Given the description of an element on the screen output the (x, y) to click on. 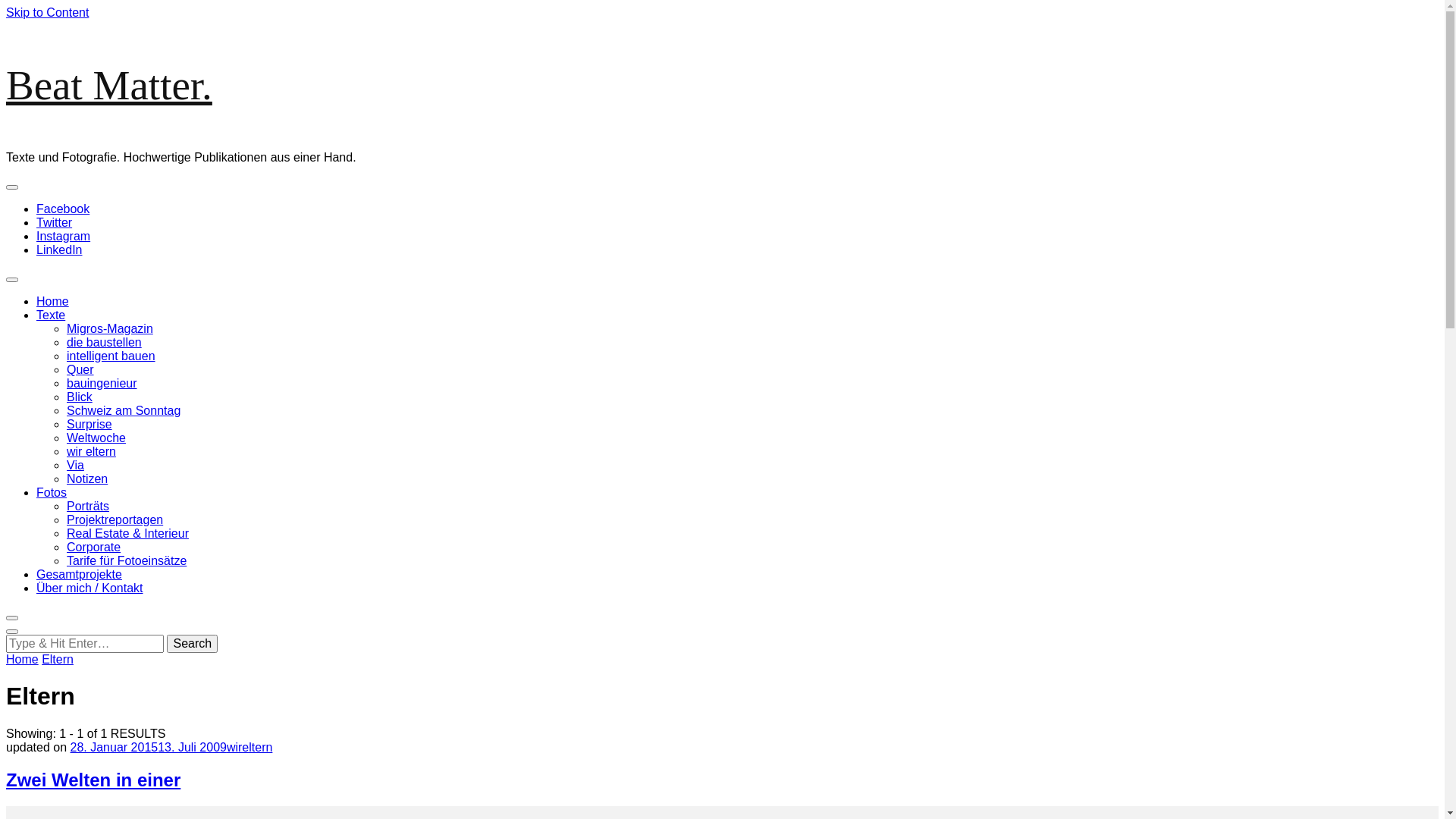
intelligent bauen Element type: text (110, 355)
Instagram Element type: text (63, 235)
Quer Element type: text (80, 369)
Fotos Element type: text (51, 492)
Blick Element type: text (79, 396)
Home Element type: text (52, 300)
28. Januar 201513. Juli 2009 Element type: text (148, 746)
Texte Element type: text (50, 314)
wireltern Element type: text (249, 746)
Corporate Element type: text (93, 546)
Notizen Element type: text (86, 478)
Real Estate & Interieur Element type: text (127, 533)
Twitter Element type: text (54, 222)
Via Element type: text (75, 464)
Beat Matter. Element type: text (109, 85)
Projektreportagen Element type: text (114, 519)
Home Element type: text (22, 658)
Migros-Magazin Element type: text (109, 328)
Gesamtprojekte Element type: text (79, 573)
Facebook Element type: text (62, 208)
Eltern Element type: text (57, 658)
wir eltern Element type: text (91, 451)
Schweiz am Sonntag Element type: text (123, 410)
LinkedIn Element type: text (59, 249)
Zwei Welten in einer Element type: text (93, 779)
Skip to Content Element type: text (47, 12)
die baustellen Element type: text (103, 341)
Weltwoche Element type: text (95, 437)
Surprise Element type: text (89, 423)
Search Element type: text (191, 643)
bauingenieur Element type: text (101, 382)
